Given the description of an element on the screen output the (x, y) to click on. 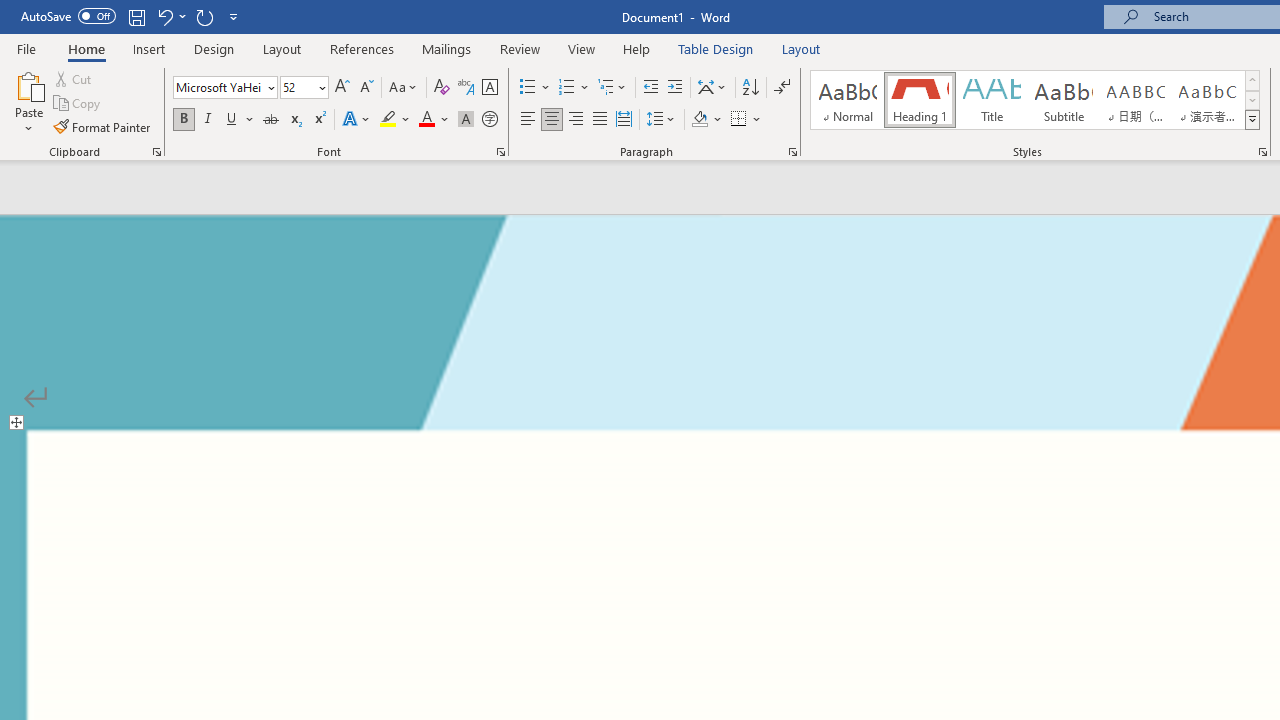
Sort... (750, 87)
AutomationID: QuickStylesGallery (1035, 99)
Shrink Font (365, 87)
Character Shading (465, 119)
Asian Layout (712, 87)
Shading RGB(0, 0, 0) (699, 119)
Subscript (294, 119)
Justify (599, 119)
